Given the description of an element on the screen output the (x, y) to click on. 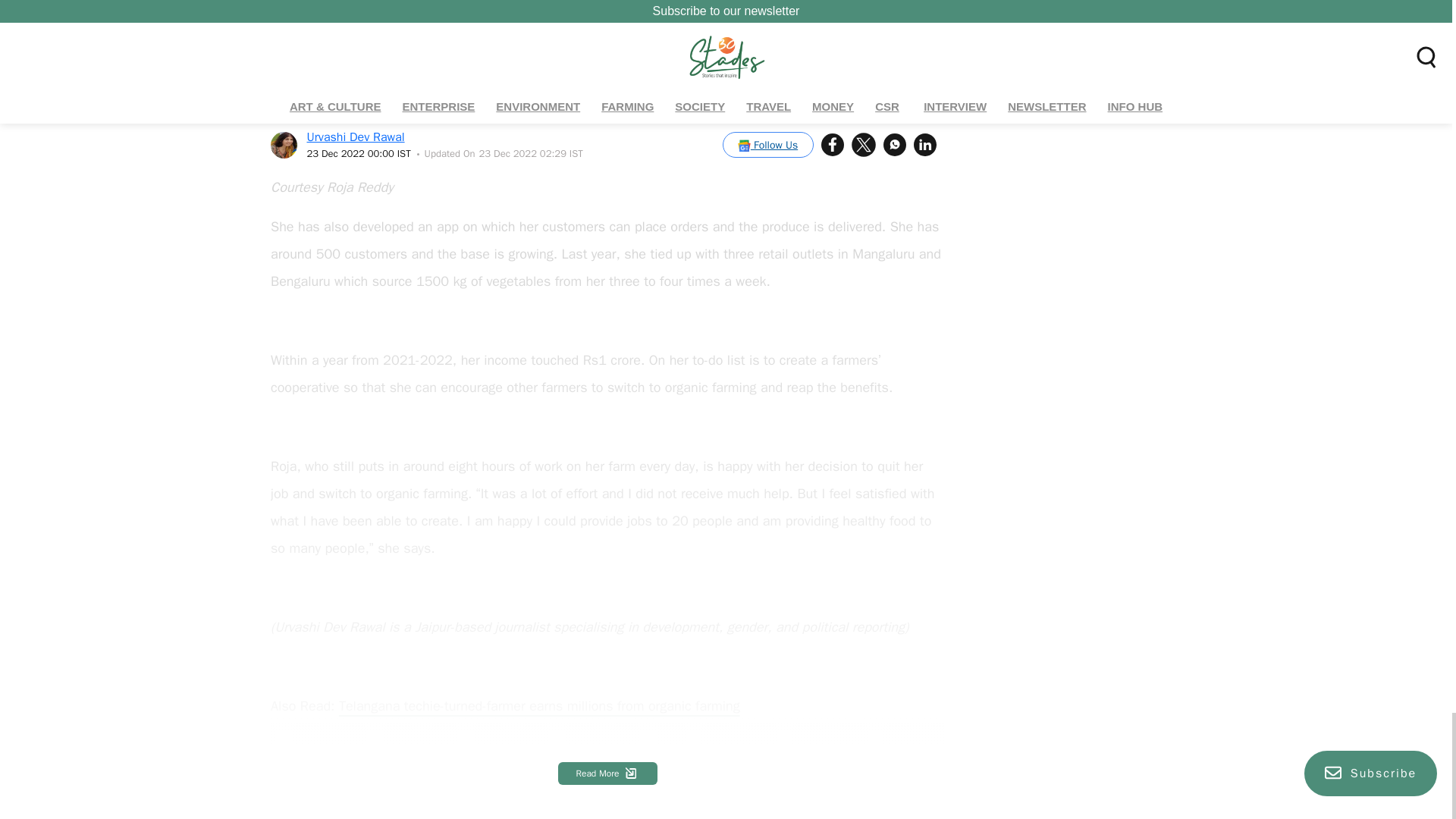
Read More (607, 773)
Look up our YouTube channel (358, 784)
